Given the description of an element on the screen output the (x, y) to click on. 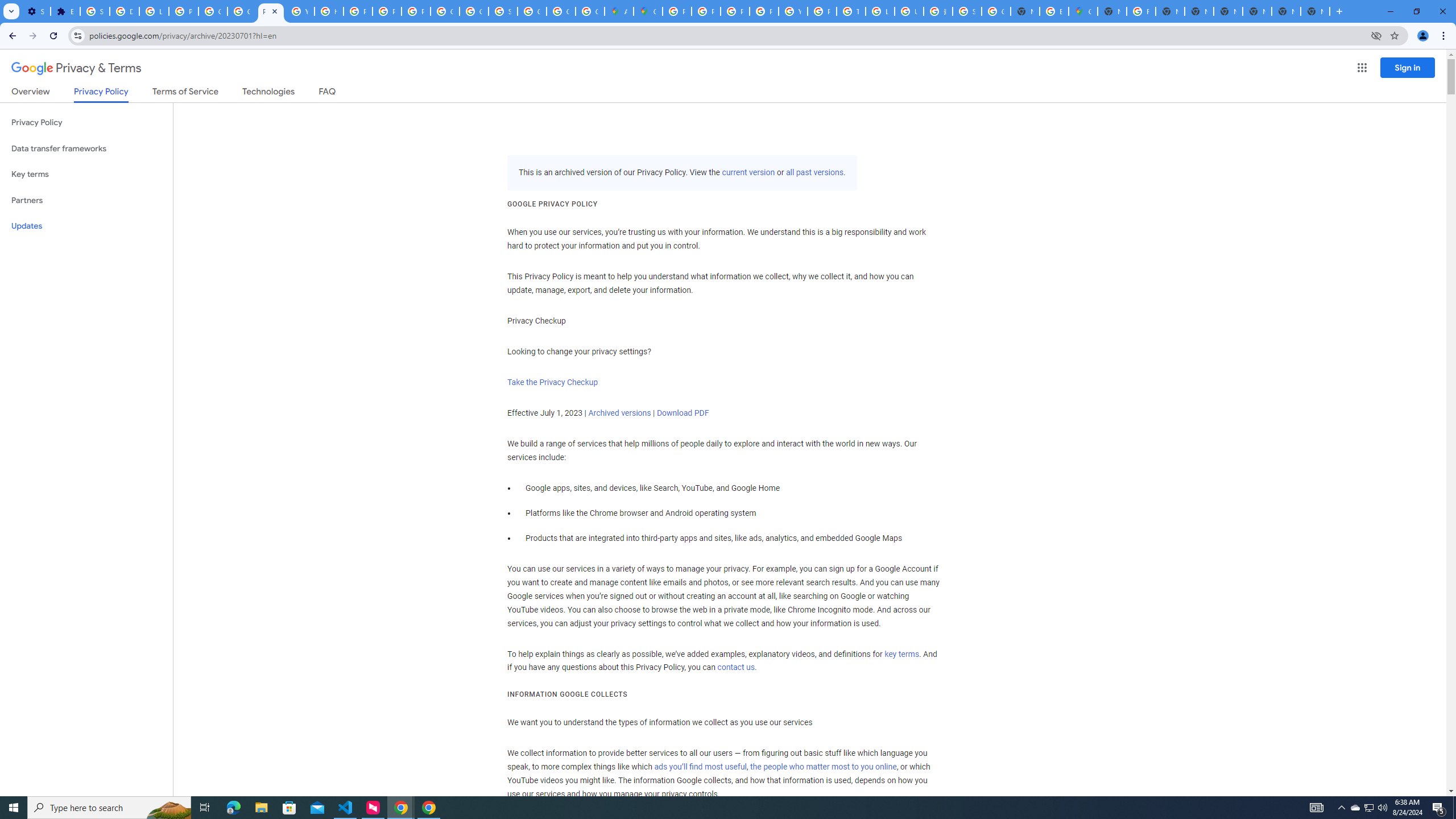
all past versions (813, 172)
YouTube (300, 11)
key terms (900, 653)
current version (748, 172)
Sign in - Google Accounts (967, 11)
Privacy Help Center - Policies Help (357, 11)
